Given the description of an element on the screen output the (x, y) to click on. 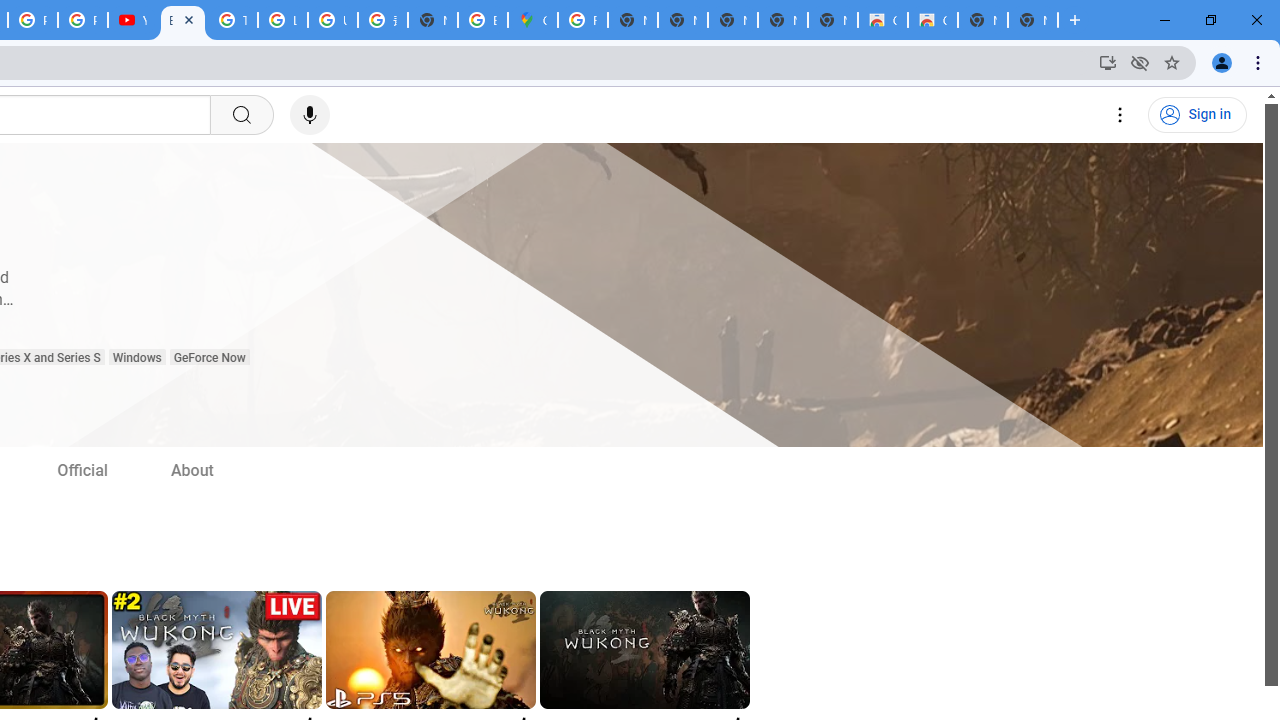
About (193, 470)
Tips & tricks for Chrome - Google Chrome Help (232, 20)
Windows (136, 358)
Classic Blue - Chrome Web Store (882, 20)
Official (81, 470)
Install YouTube (1107, 62)
